Given the description of an element on the screen output the (x, y) to click on. 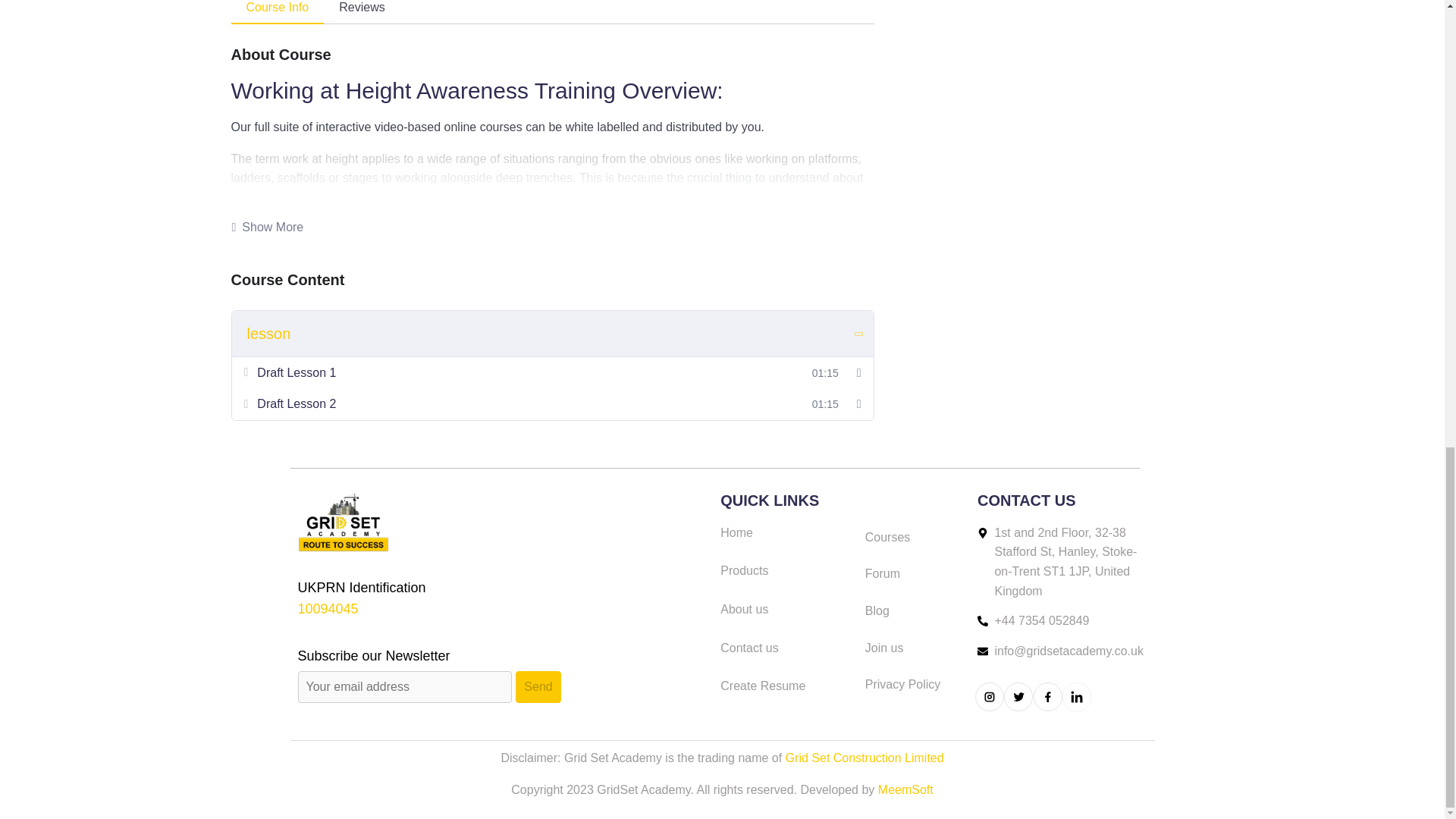
About us (785, 609)
Create Resume (785, 686)
Home (785, 532)
Reviews (360, 12)
Course Info (276, 12)
Send (537, 686)
Send (537, 686)
Products (785, 570)
Contact us (785, 648)
Show More (267, 227)
